Given the description of an element on the screen output the (x, y) to click on. 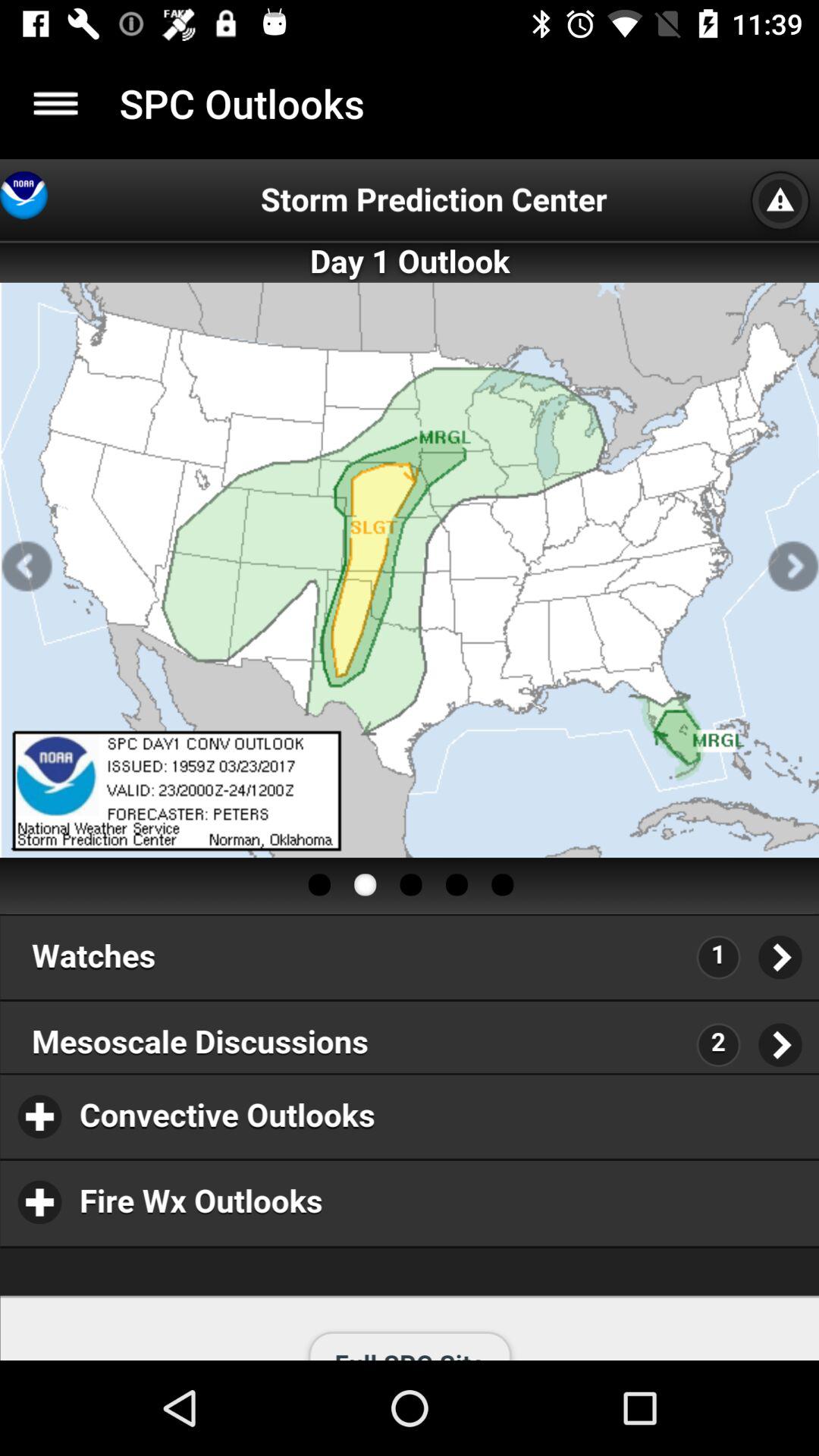
options (55, 103)
